Given the description of an element on the screen output the (x, y) to click on. 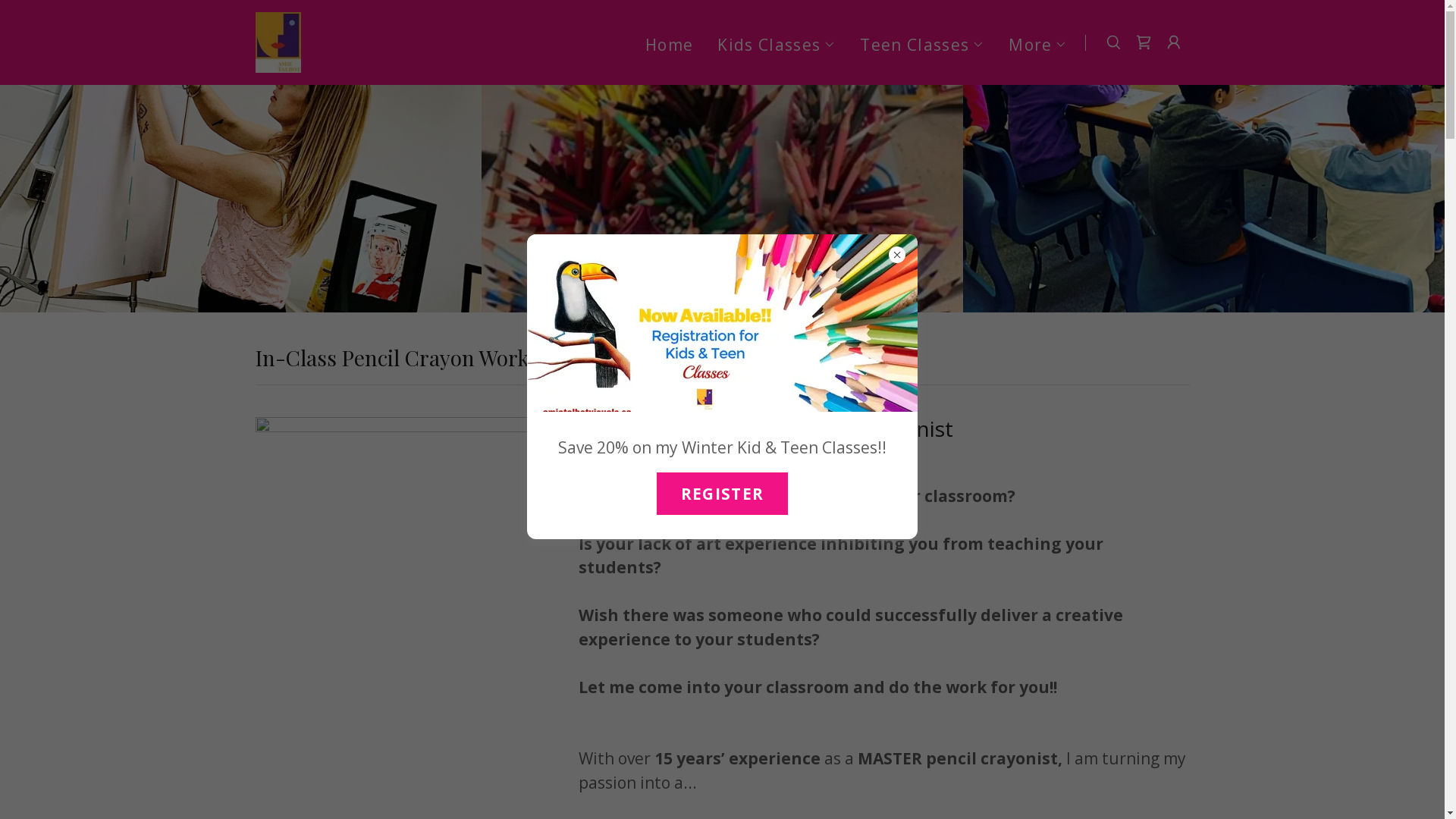
REGISTER Element type: text (722, 493)
More Element type: text (1037, 43)
Teen Classes Element type: text (921, 43)
Kids Classes Element type: text (776, 43)
Amie Talbot Visuals  Element type: hover (277, 40)
Home Element type: text (668, 43)
